Given the description of an element on the screen output the (x, y) to click on. 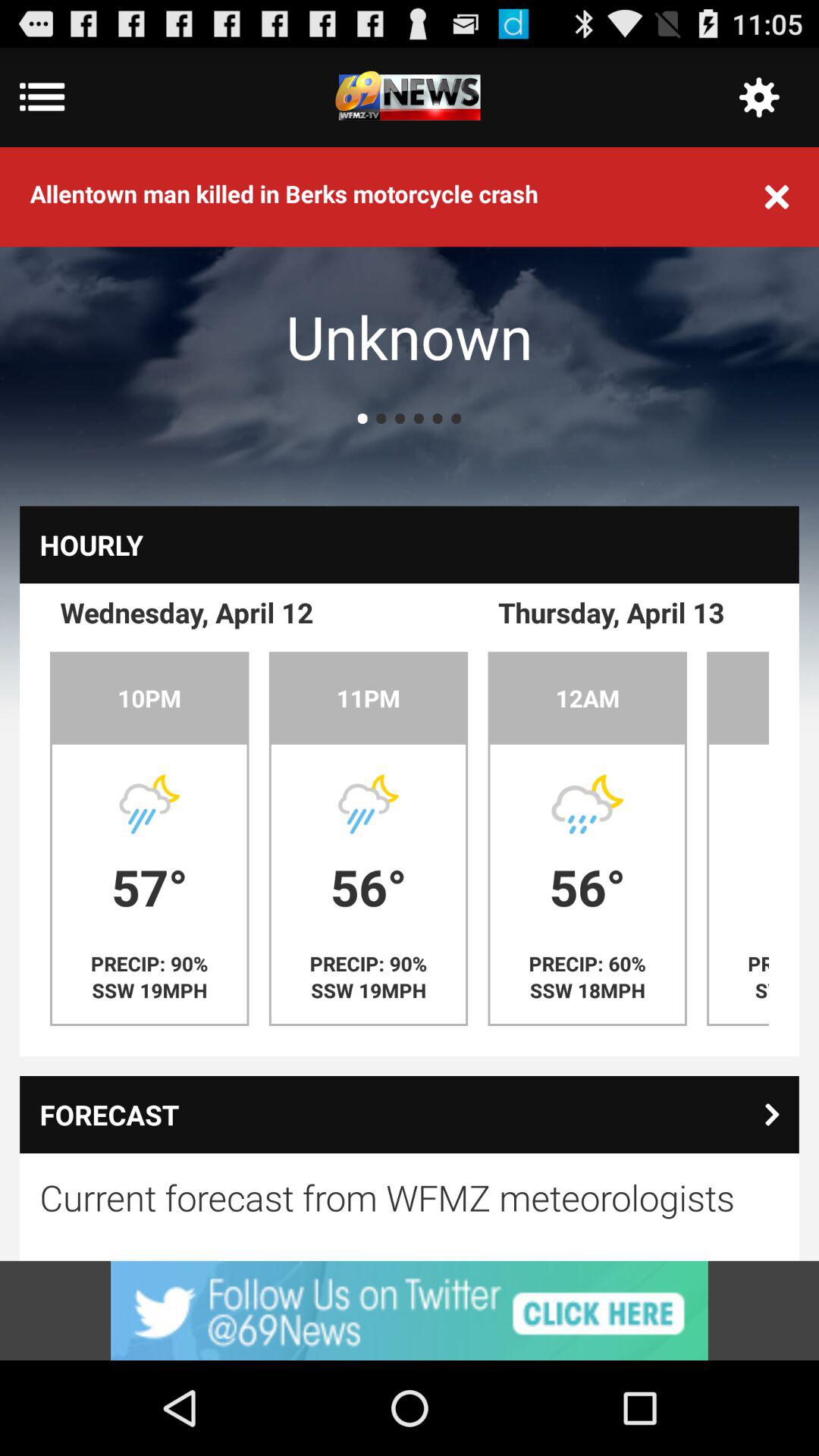
go to advertising site (409, 1310)
